Given the description of an element on the screen output the (x, y) to click on. 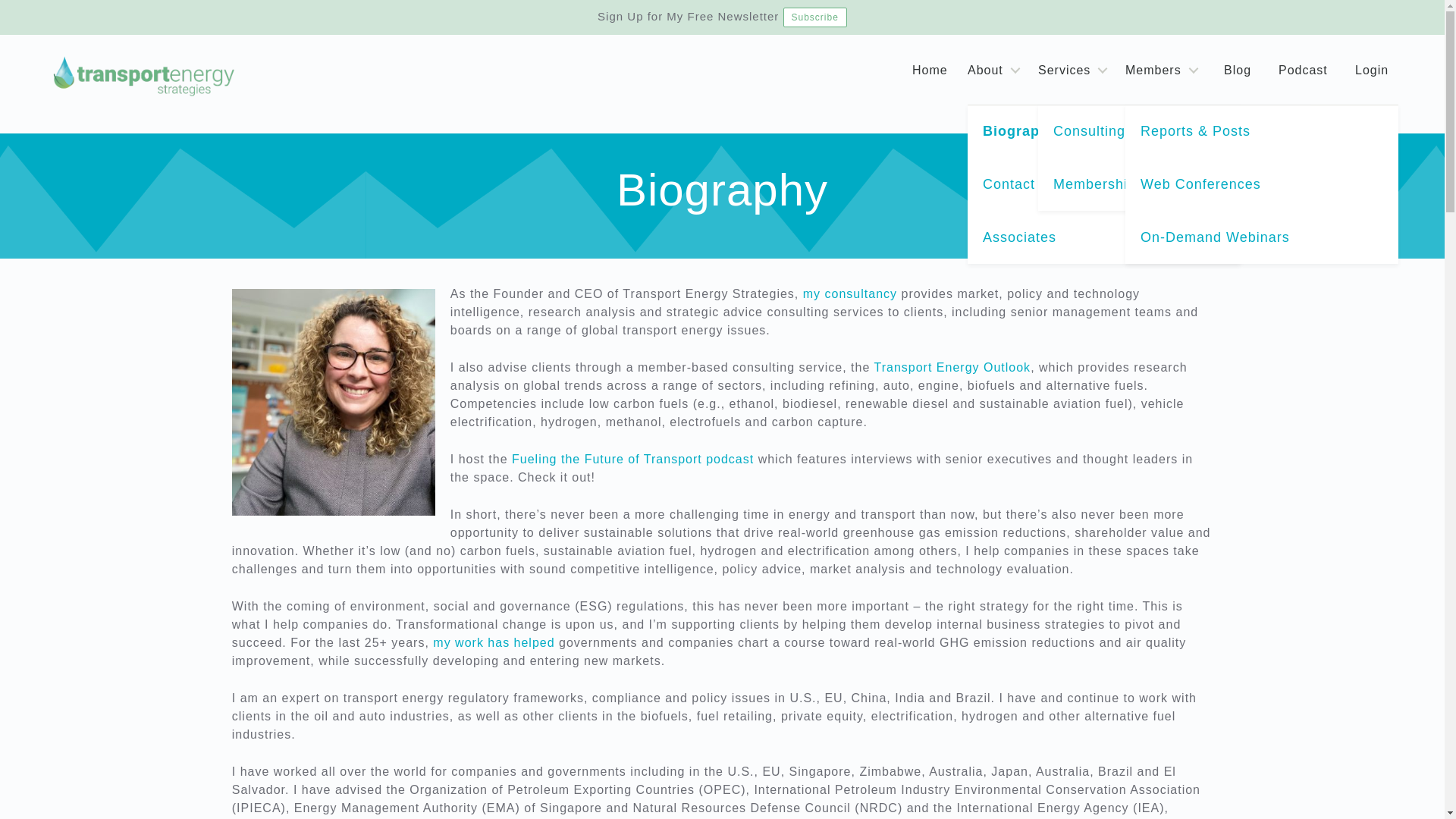
On-Demand Webinars (1261, 237)
Consulting Services (1173, 130)
Home (929, 70)
Fueling the Future of Transport podcast (633, 459)
Services (1075, 70)
Membership Service (1173, 183)
Web Conferences (1261, 183)
Podcast (1303, 70)
Contact Tammy (1103, 183)
About (997, 70)
Login (1372, 70)
Subscribe (815, 17)
Biography (1103, 130)
my work has helped (493, 642)
Transport Energy Outlook (951, 367)
